Given the description of an element on the screen output the (x, y) to click on. 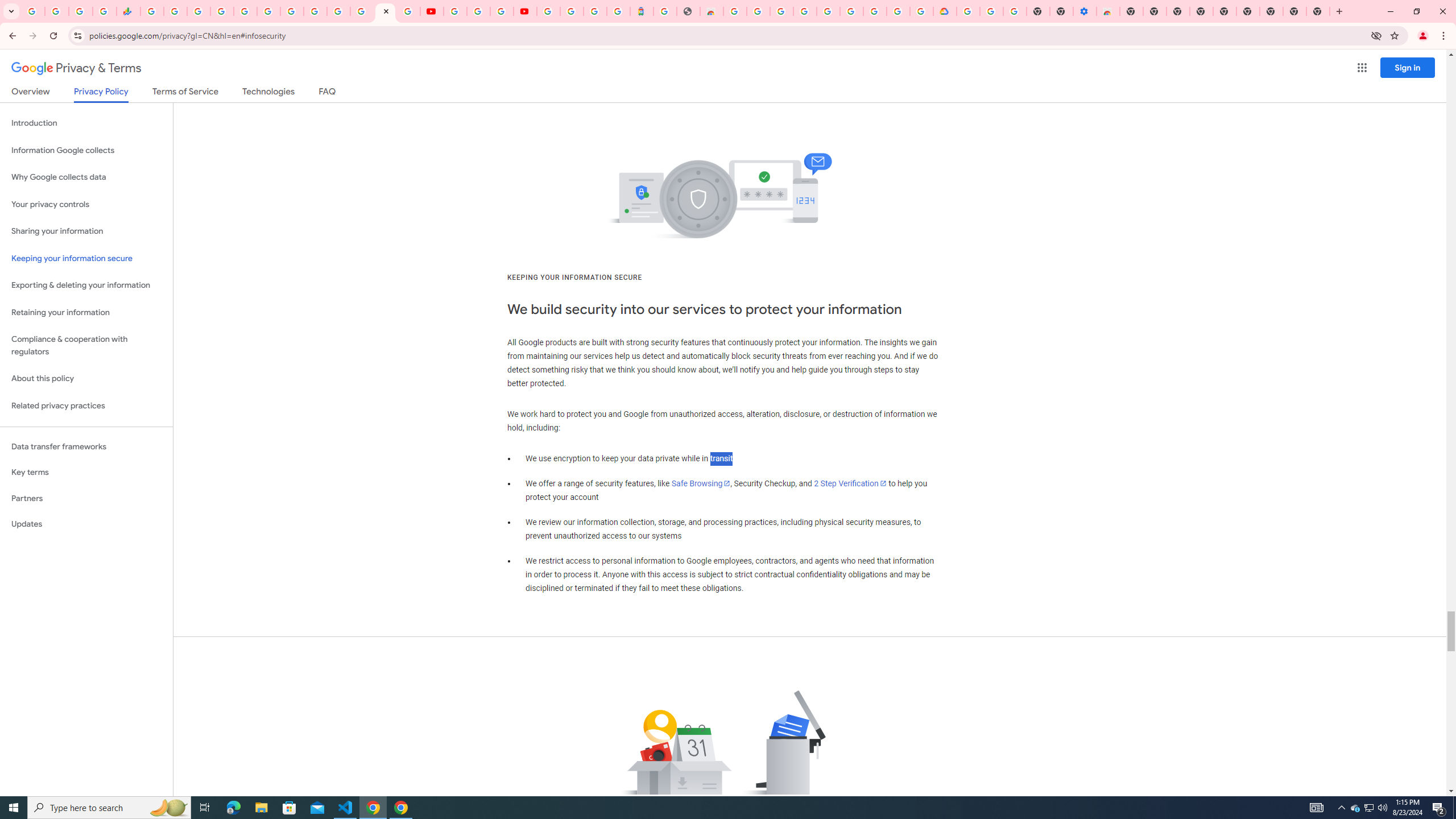
Key terms (86, 472)
Safe Browsing (700, 483)
Keeping your information secure (86, 258)
About this policy (86, 379)
Chrome Web Store - Household (711, 11)
Information Google collects (86, 150)
YouTube (454, 11)
YouTube (314, 11)
Exporting & deleting your information (86, 284)
